Given the description of an element on the screen output the (x, y) to click on. 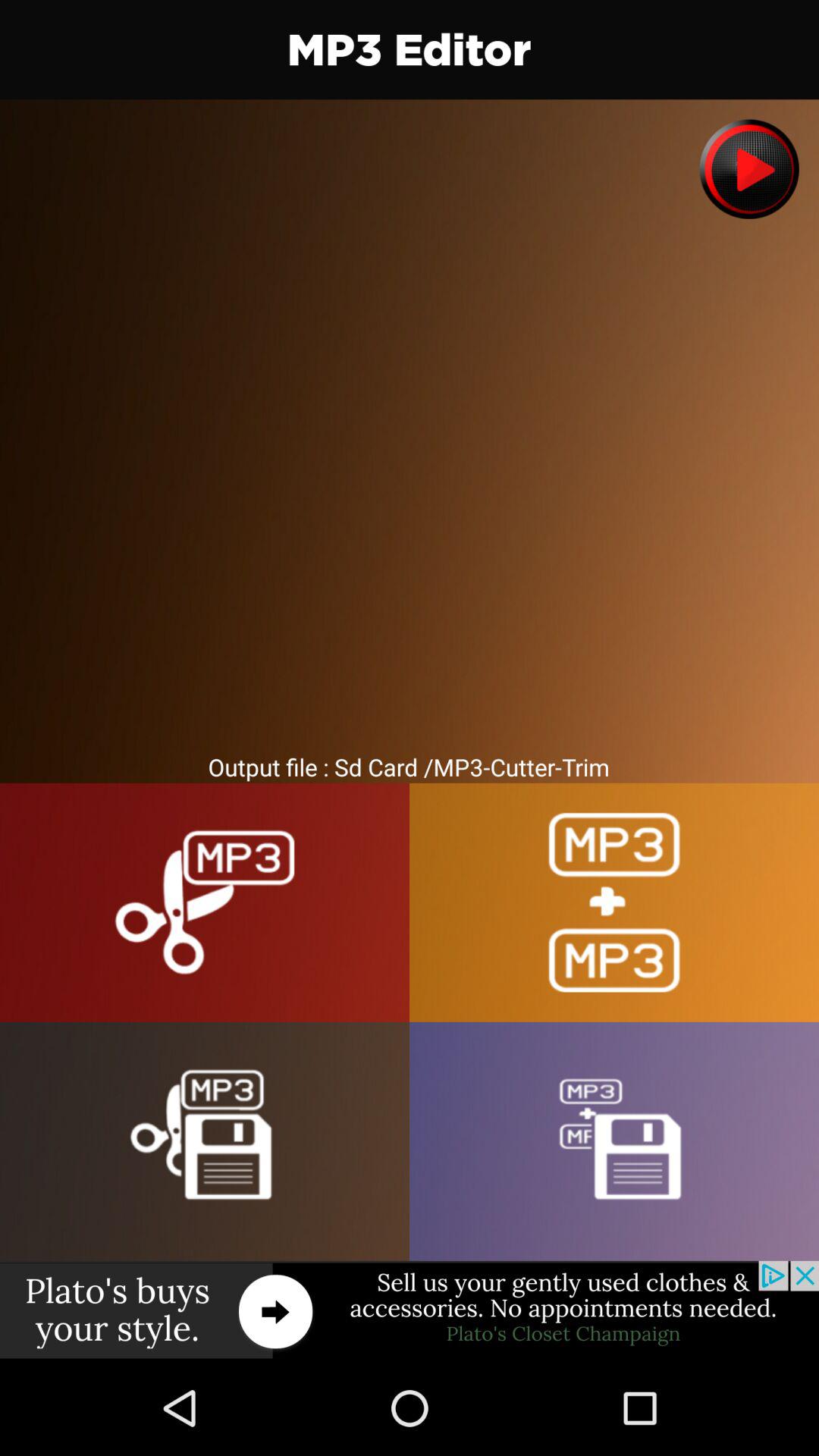
combine mp3 files (614, 902)
